Given the description of an element on the screen output the (x, y) to click on. 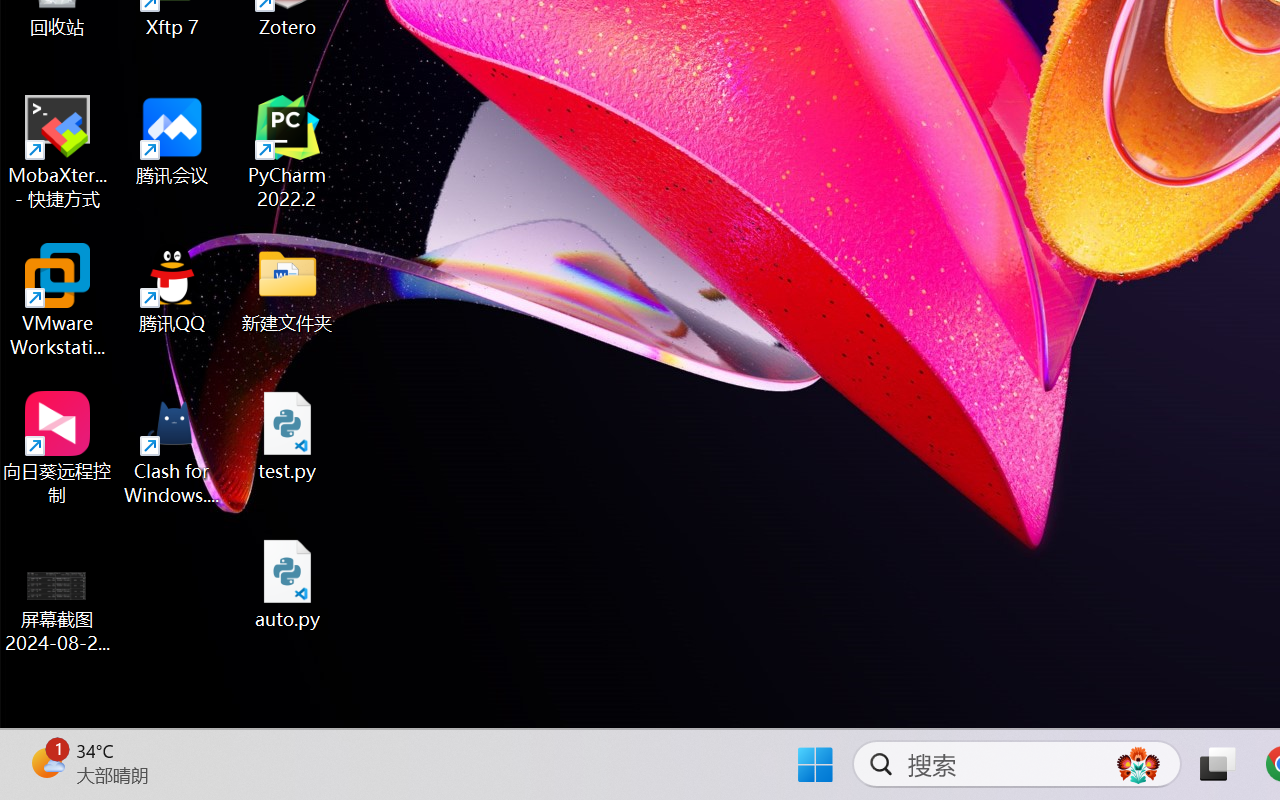
PyCharm 2022.2 (287, 152)
